Given the description of an element on the screen output the (x, y) to click on. 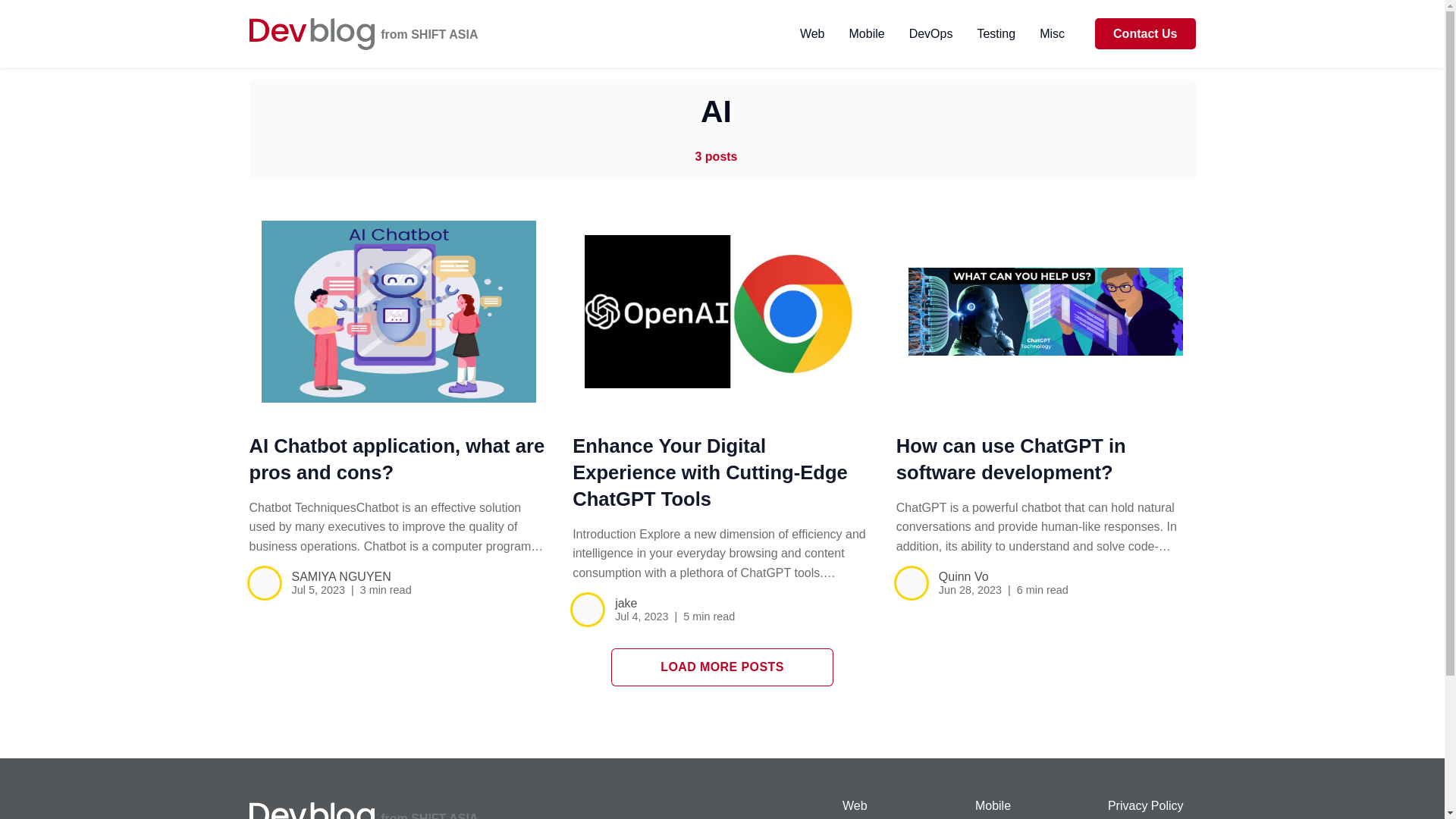
Mobile (866, 33)
DevOps (930, 33)
SAMIYA NGUYEN (340, 576)
LOAD MORE POSTS (721, 667)
Web (909, 807)
Mobile (1041, 807)
Contact Us (1144, 33)
AI Chatbot application, what are pros and cons? (398, 311)
AI Chatbot application, what are pros and cons? (396, 458)
Quinn Vo (963, 576)
How can use ChatGPT in software development? (1045, 311)
